Given the description of an element on the screen output the (x, y) to click on. 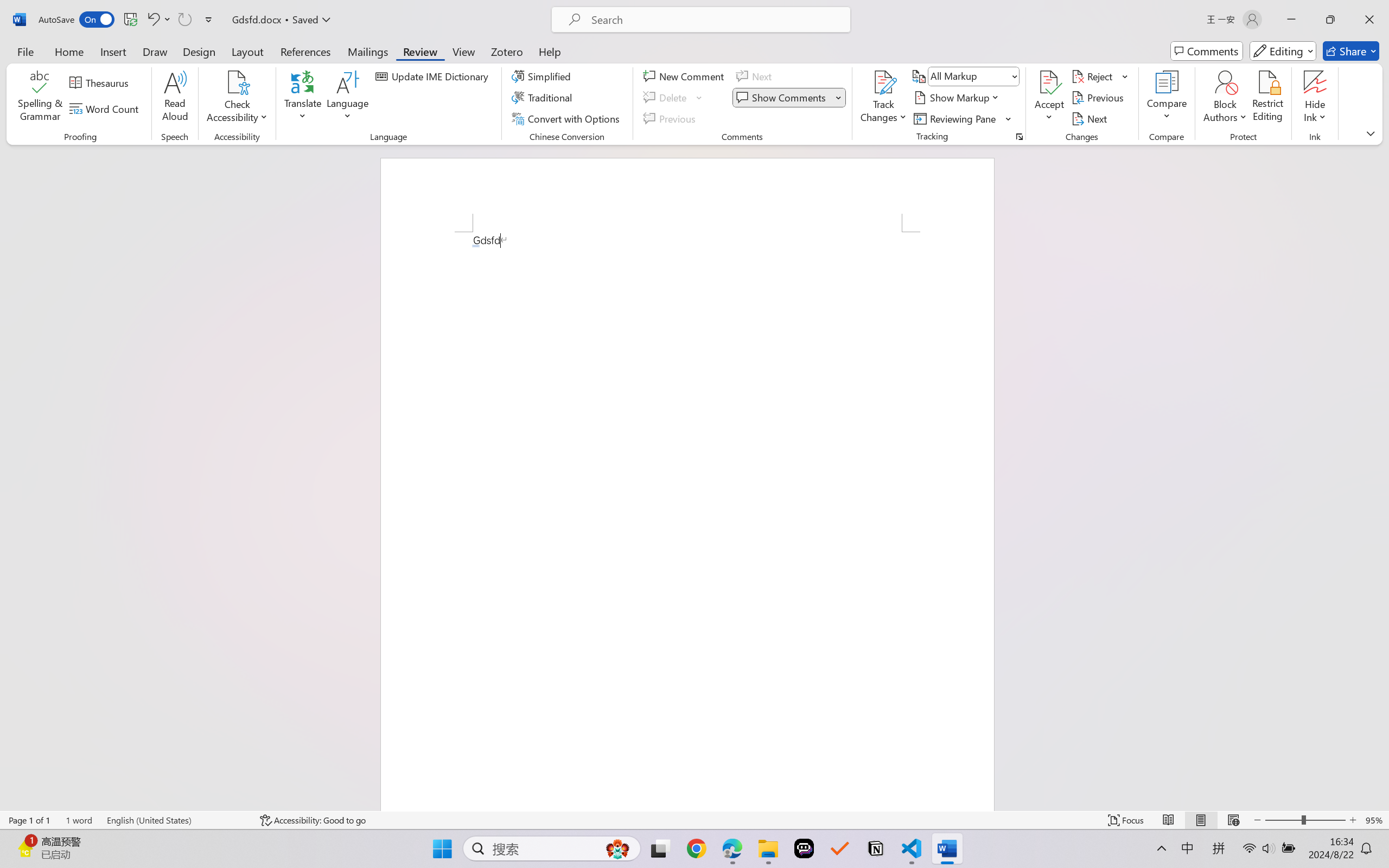
Track Changes (883, 81)
Class: MsoCommandBar (694, 819)
Language (347, 97)
Update IME Dictionary... (433, 75)
Translate (303, 97)
Spelling & Grammar (39, 97)
Track Changes (883, 97)
